Given the description of an element on the screen output the (x, y) to click on. 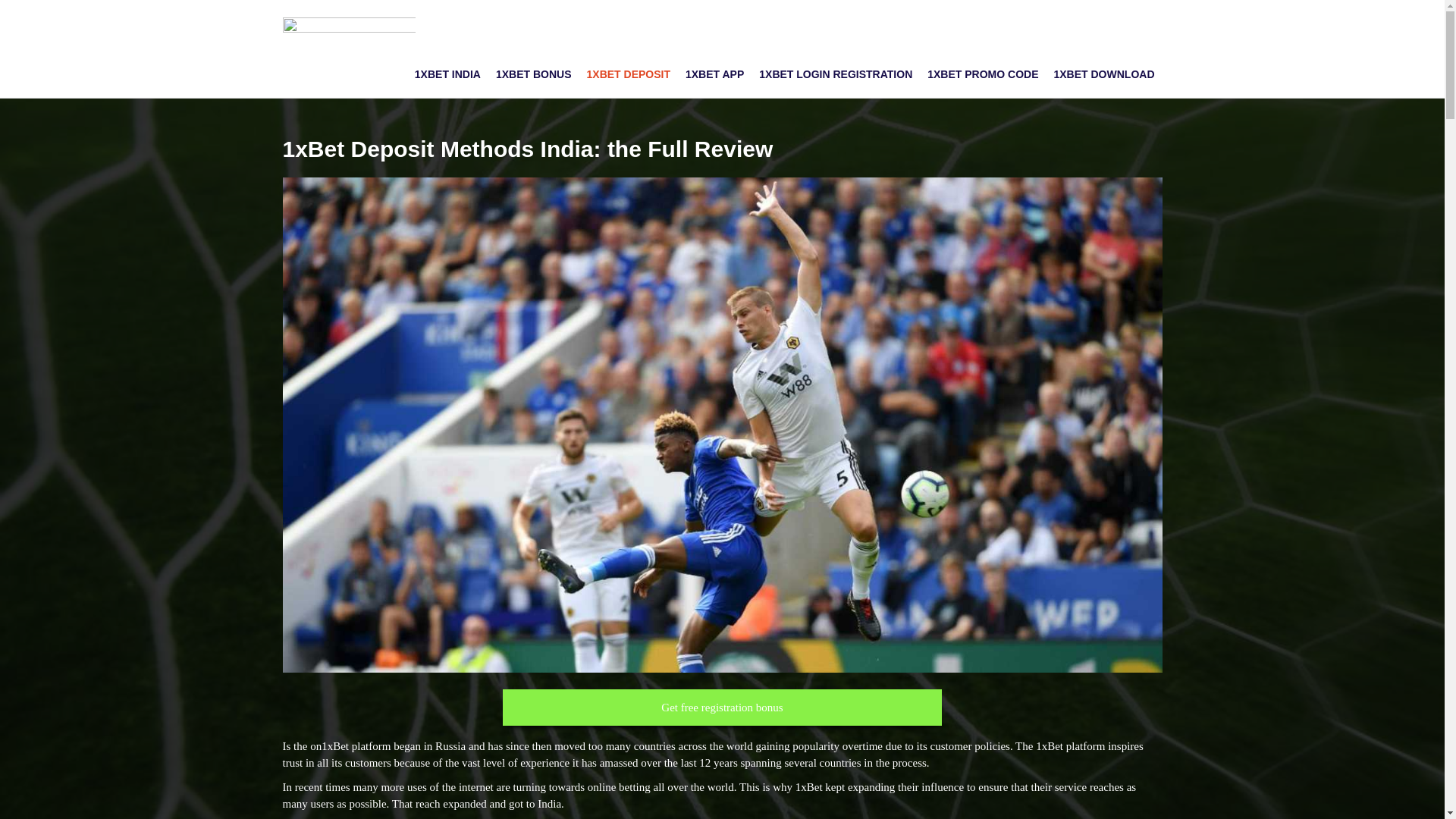
1XBET DEPOSIT Element type: text (628, 74)
1XBET INDIA Element type: text (447, 74)
1XBET LOGIN REGISTRATION Element type: text (835, 74)
Get free registration bonus Element type: text (721, 707)
1XBET APP Element type: text (714, 74)
1XBET BONUS Element type: text (533, 74)
1XBET PROMO CODE Element type: text (982, 74)
1XBET DOWNLOAD Element type: text (1104, 74)
